Given the description of an element on the screen output the (x, y) to click on. 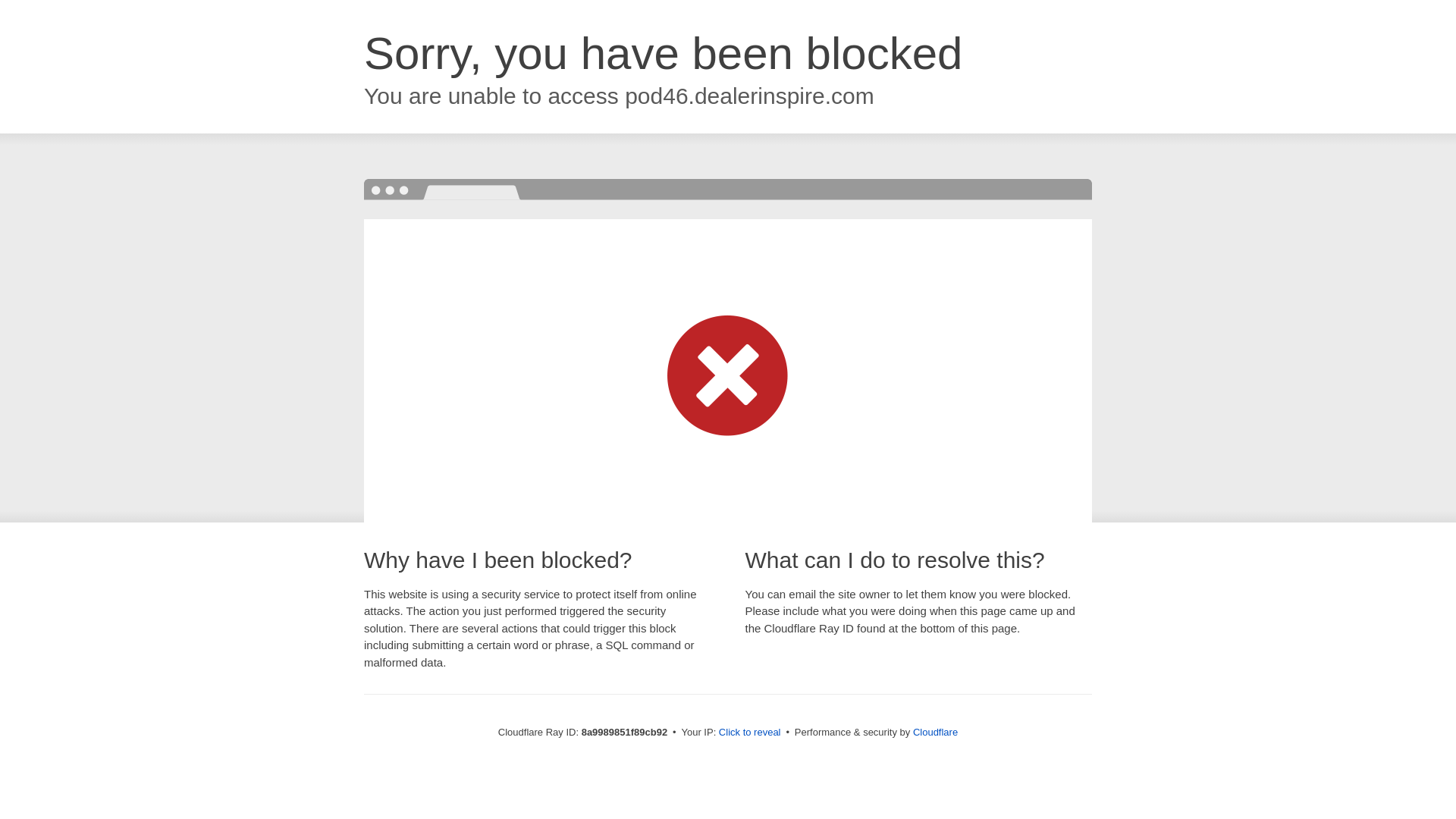
Click to reveal (749, 732)
Cloudflare (935, 731)
